Given the description of an element on the screen output the (x, y) to click on. 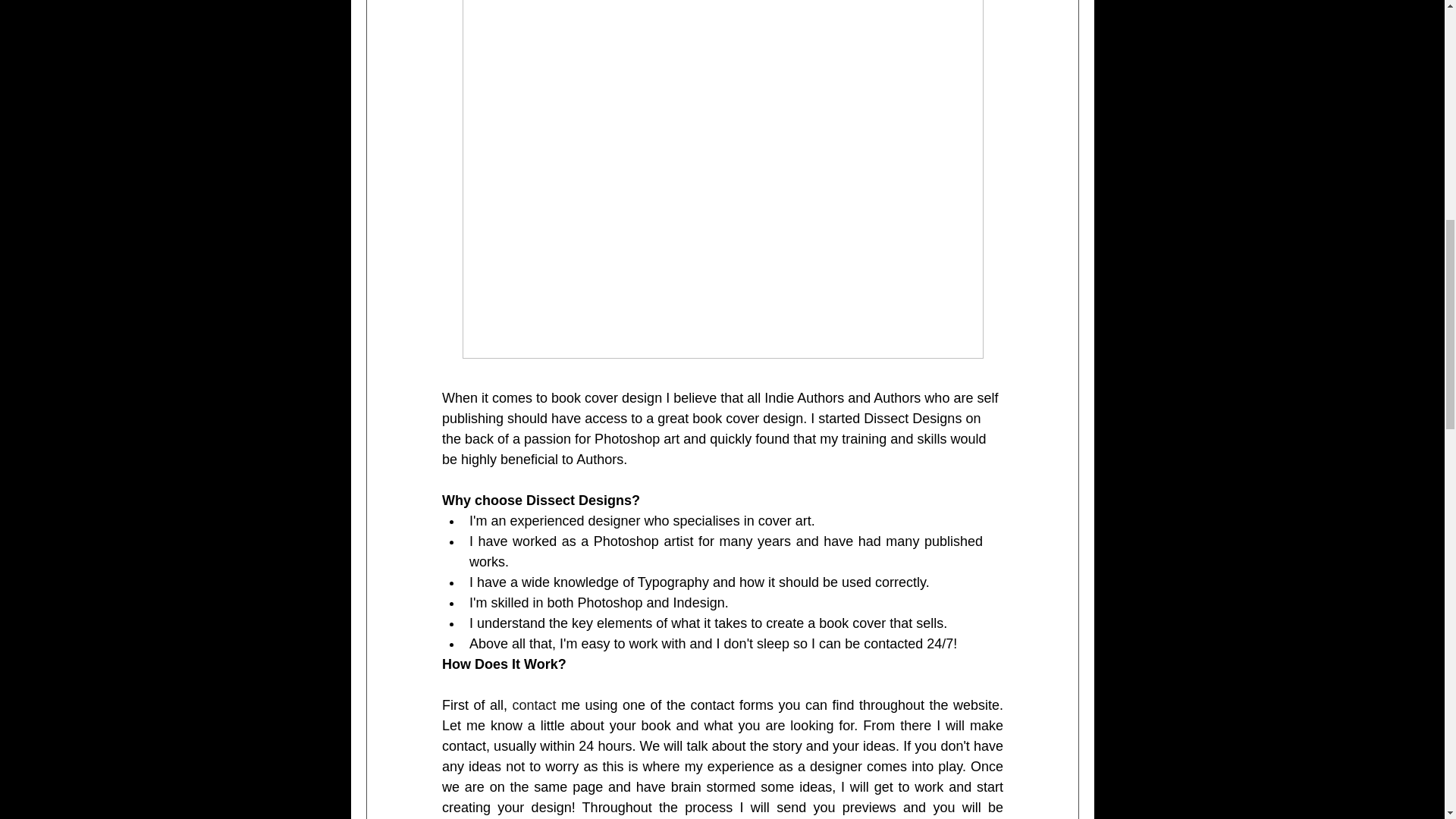
contact (534, 704)
